Given the description of an element on the screen output the (x, y) to click on. 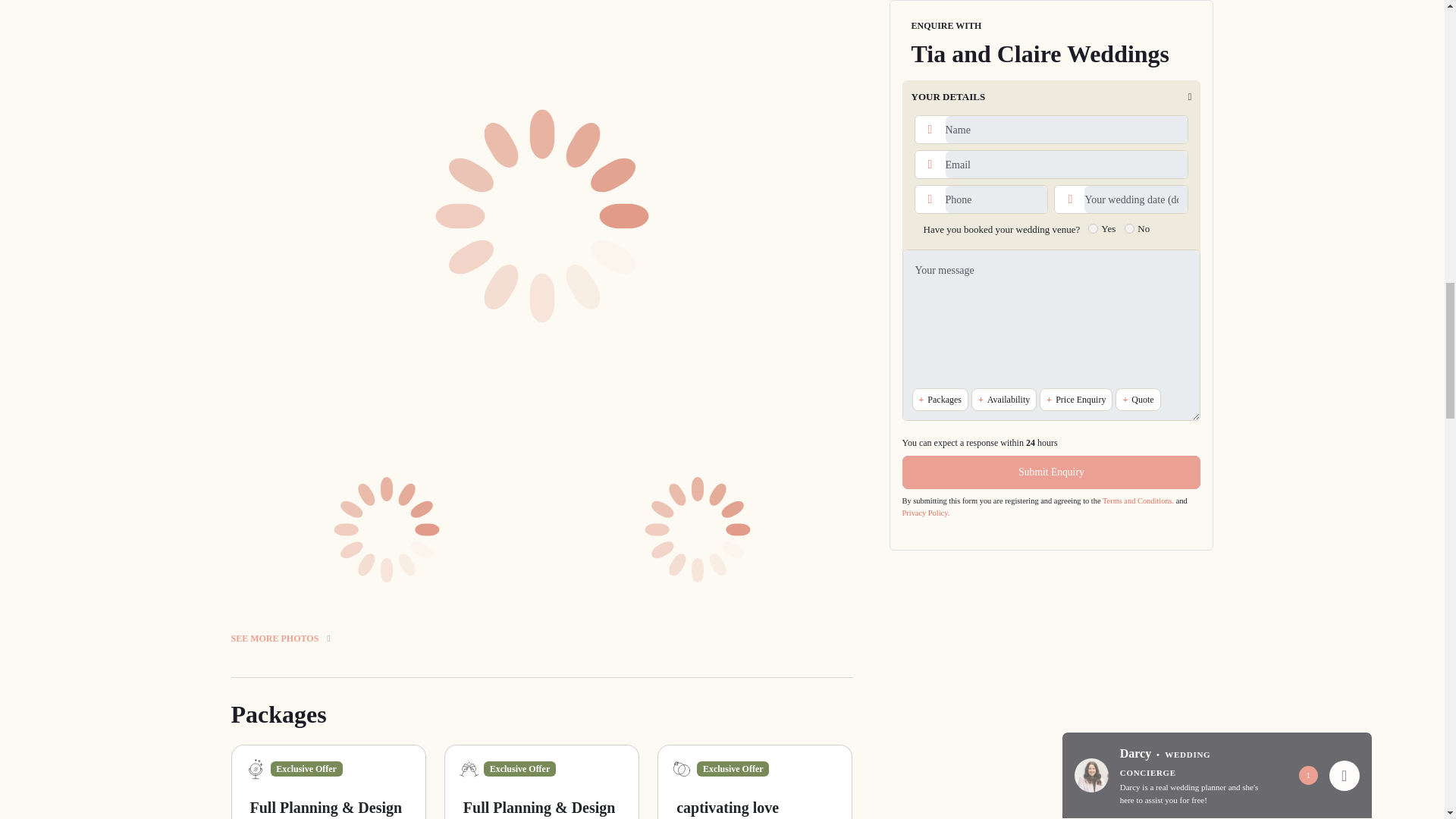
Tia and Claire Weddings SupplierProfileLive Wedding Planners (697, 529)
SEE MORE PHOTOS (540, 621)
Tia and Claire Weddings SupplierProfileLive Wedding Planners (697, 2)
Tia and Claire Weddings SupplierProfileLive Wedding Planners (386, 529)
Tia and Claire Weddings SupplierProfileLive Wedding Planners (386, 2)
